Given the description of an element on the screen output the (x, y) to click on. 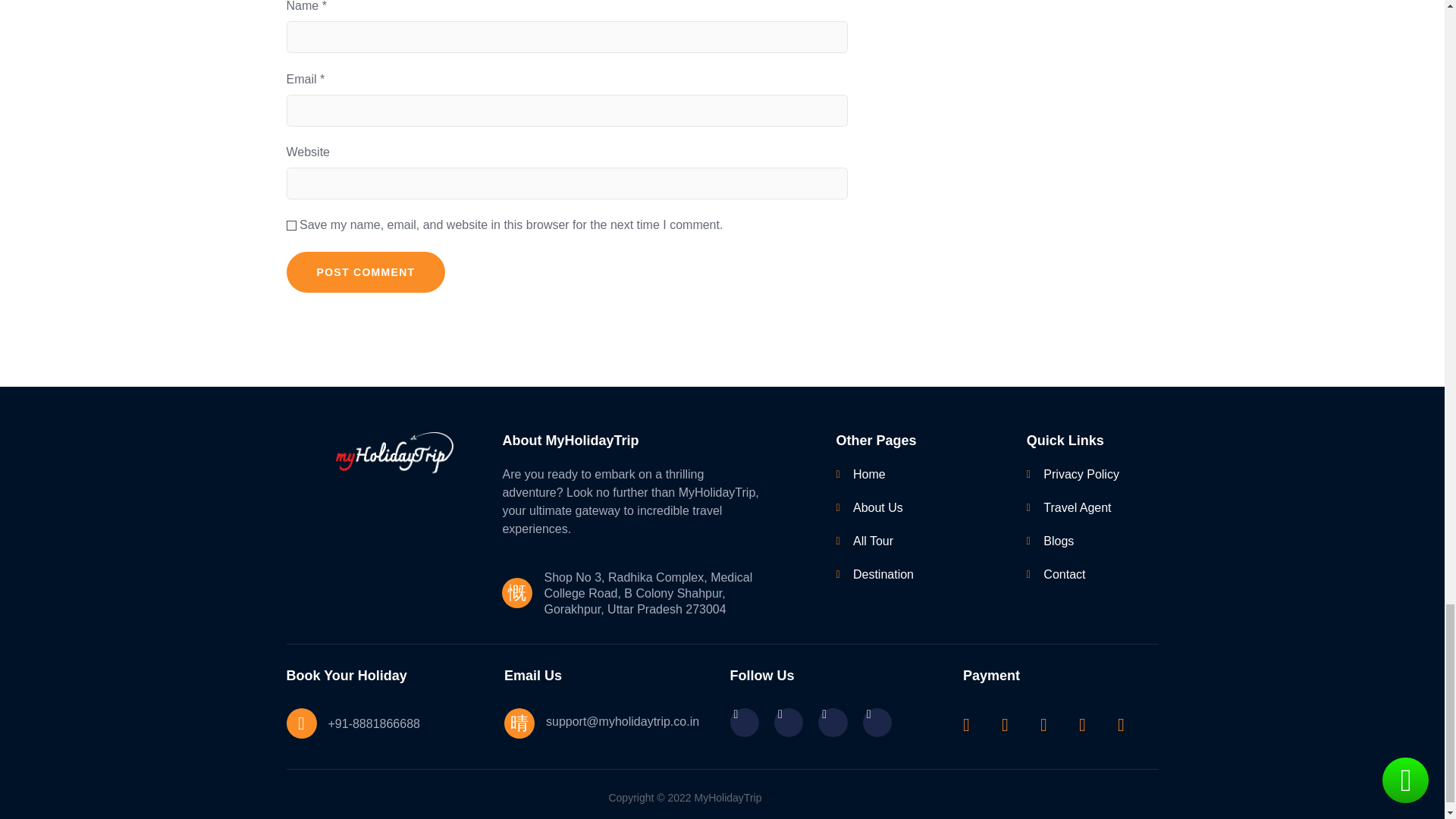
Home (907, 475)
Blogs (1082, 541)
Post Comment (365, 271)
Travel Agent (1082, 507)
Post Comment (365, 271)
All Tour (907, 541)
Destination (907, 574)
About Us (907, 507)
Contact (1082, 574)
